Given the description of an element on the screen output the (x, y) to click on. 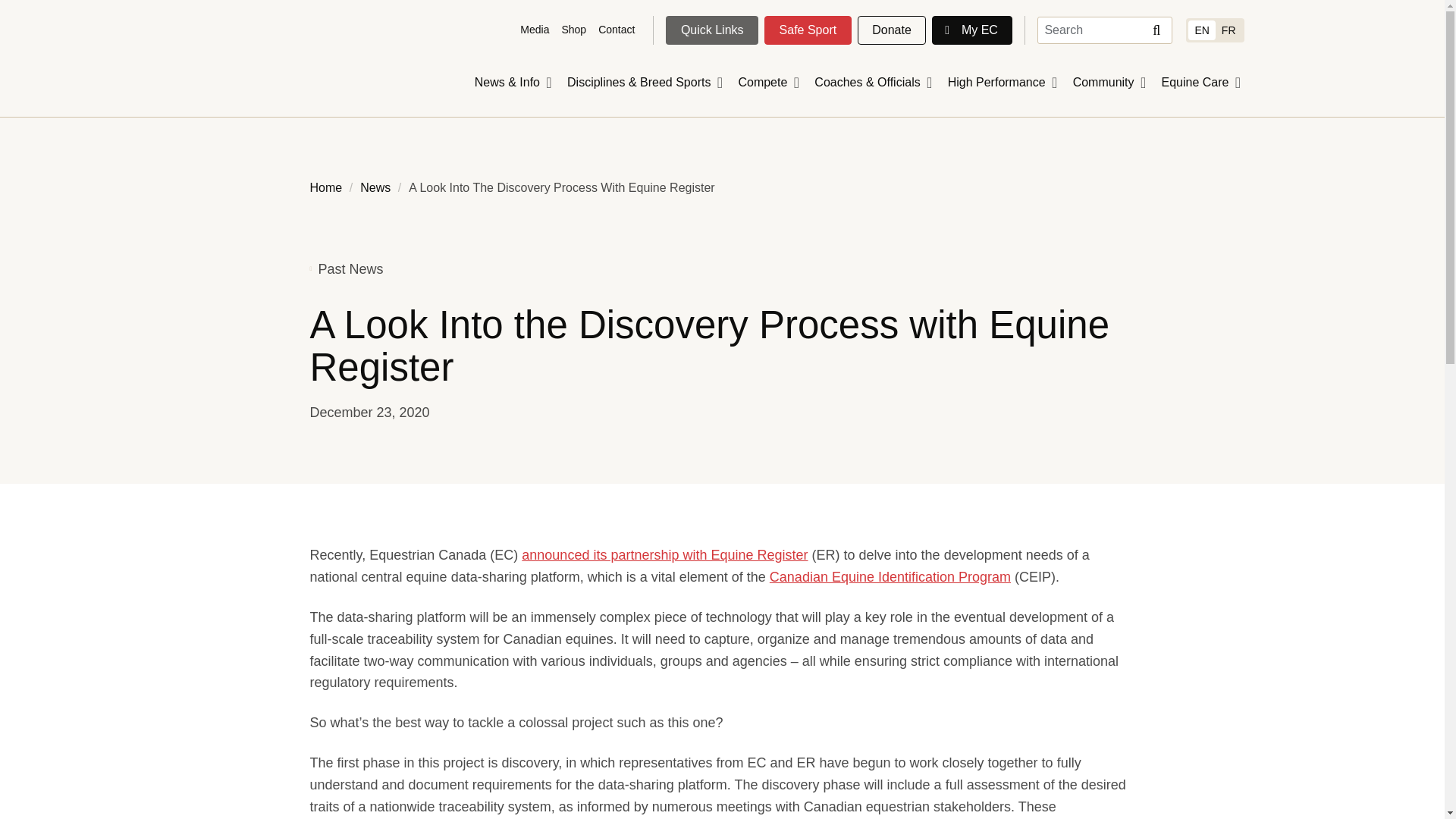
Contact (616, 29)
Quick Links (711, 30)
EN (1201, 30)
Media (533, 29)
FR (1228, 30)
Safe Sport (807, 30)
My EC (971, 30)
Shop (573, 29)
Donate (891, 30)
